Given the description of an element on the screen output the (x, y) to click on. 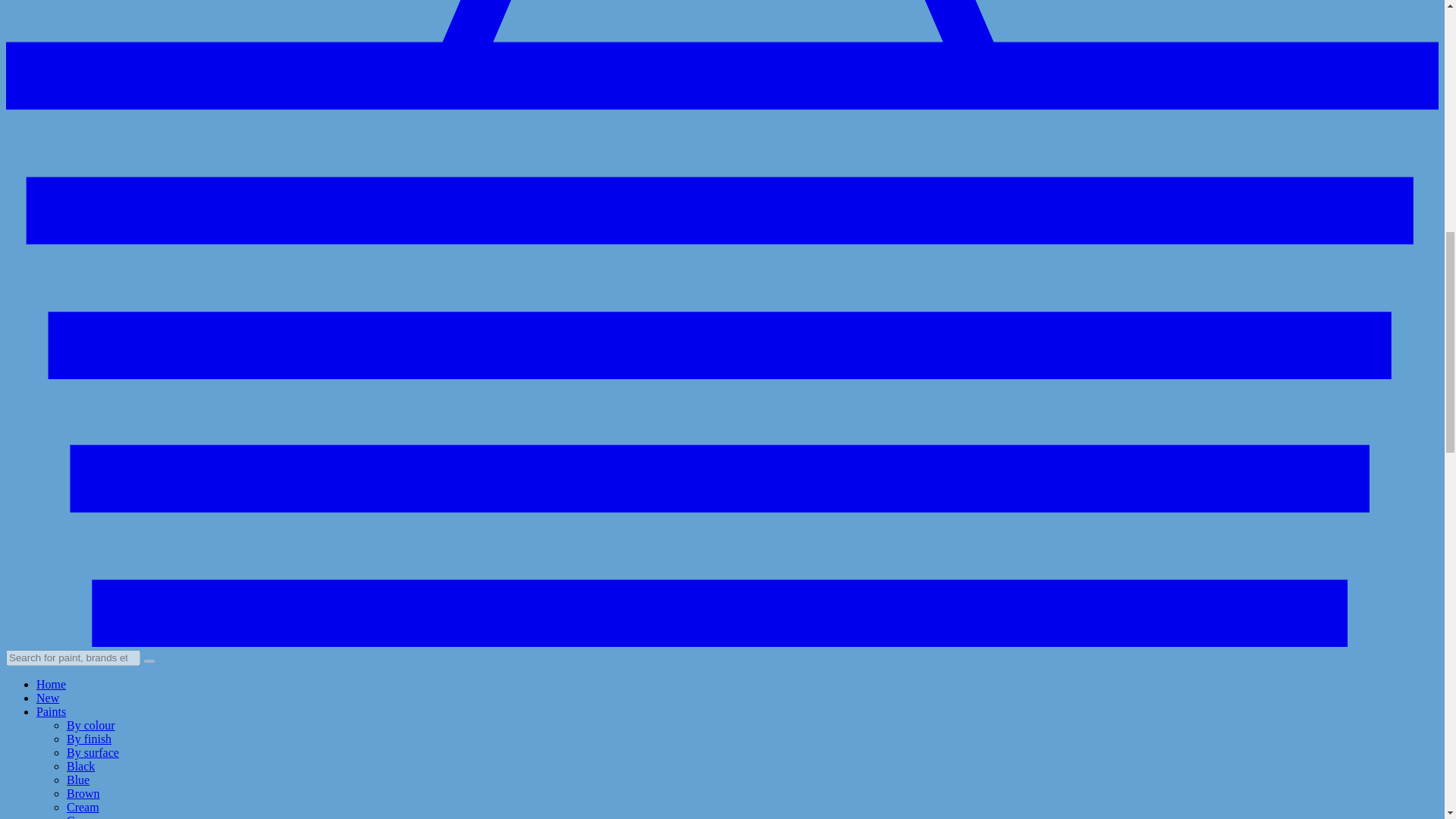
Black (80, 766)
Blue (77, 779)
Green (81, 816)
Cream (82, 807)
Home (50, 684)
Brown (83, 793)
By finish (89, 738)
Paints (50, 711)
By colour (90, 725)
New (47, 697)
By surface (92, 752)
